Given the description of an element on the screen output the (x, y) to click on. 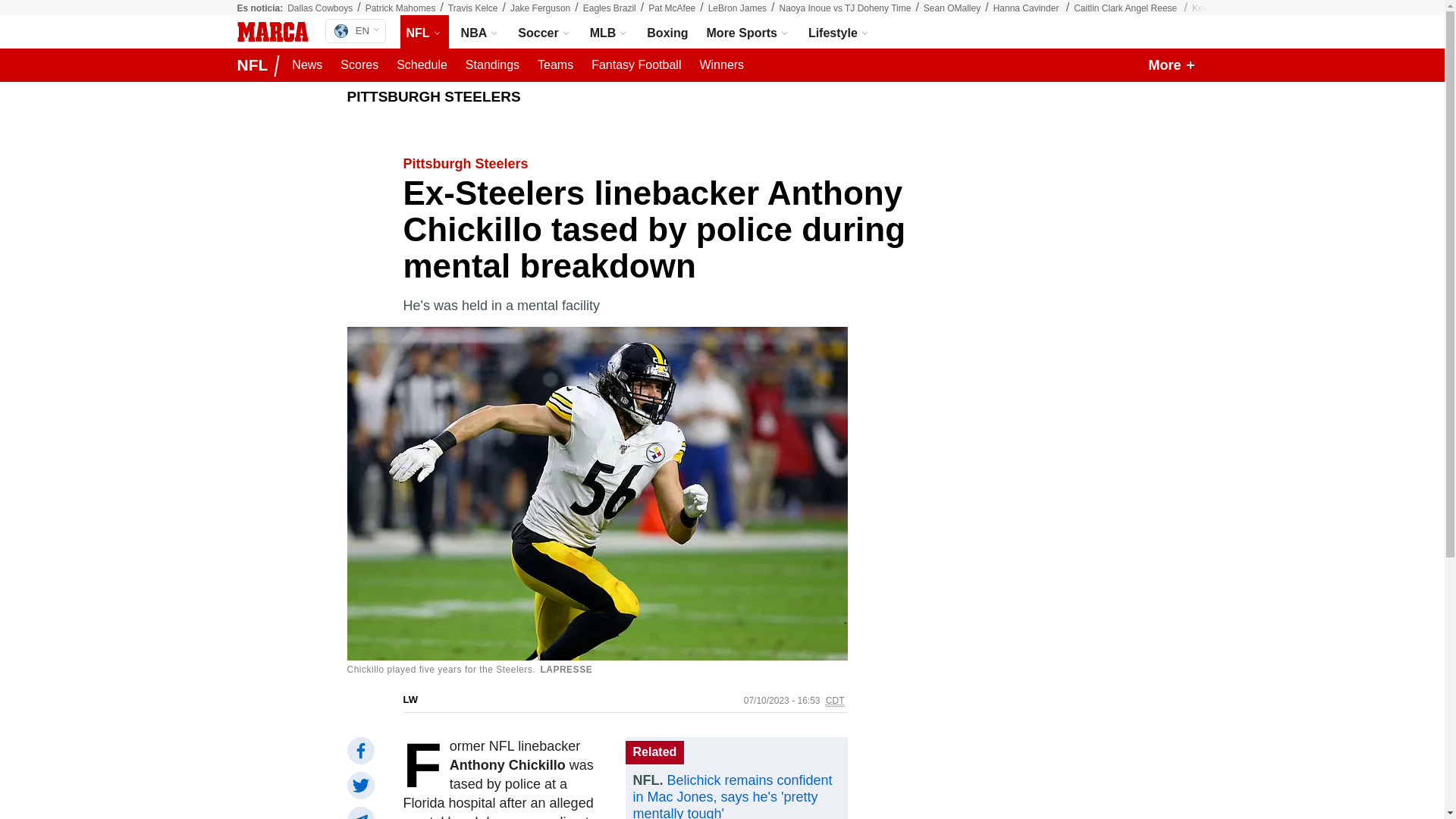
NBA (480, 31)
Boxing (667, 31)
Schedule (421, 64)
Travis Kelce (472, 8)
Teams (555, 64)
News (307, 64)
Dallas Cowboys (319, 8)
Standings (492, 64)
Portada de Marca (271, 31)
Boxing (667, 31)
